Given the description of an element on the screen output the (x, y) to click on. 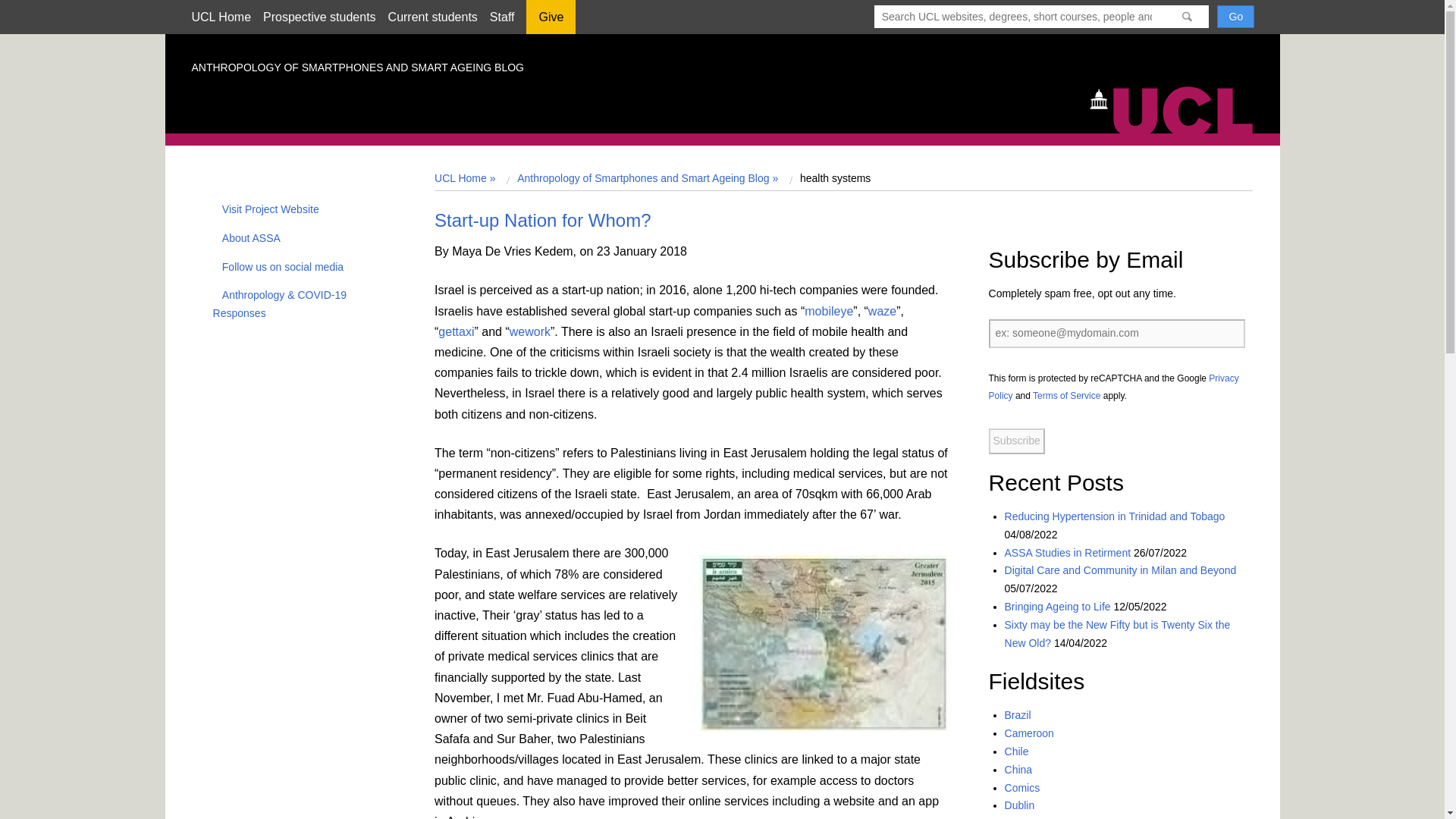
Current students (432, 16)
ASSA Studies in Retirment (1067, 552)
Bringing Ageing to Life (1057, 606)
Privacy Policy (1113, 387)
Staff (502, 16)
Cameroon (1029, 733)
About ASSA (246, 237)
Go (1235, 15)
Subscribe (1016, 441)
Digital Care and Community in Milan and Beyond (1120, 570)
